Given the description of an element on the screen output the (x, y) to click on. 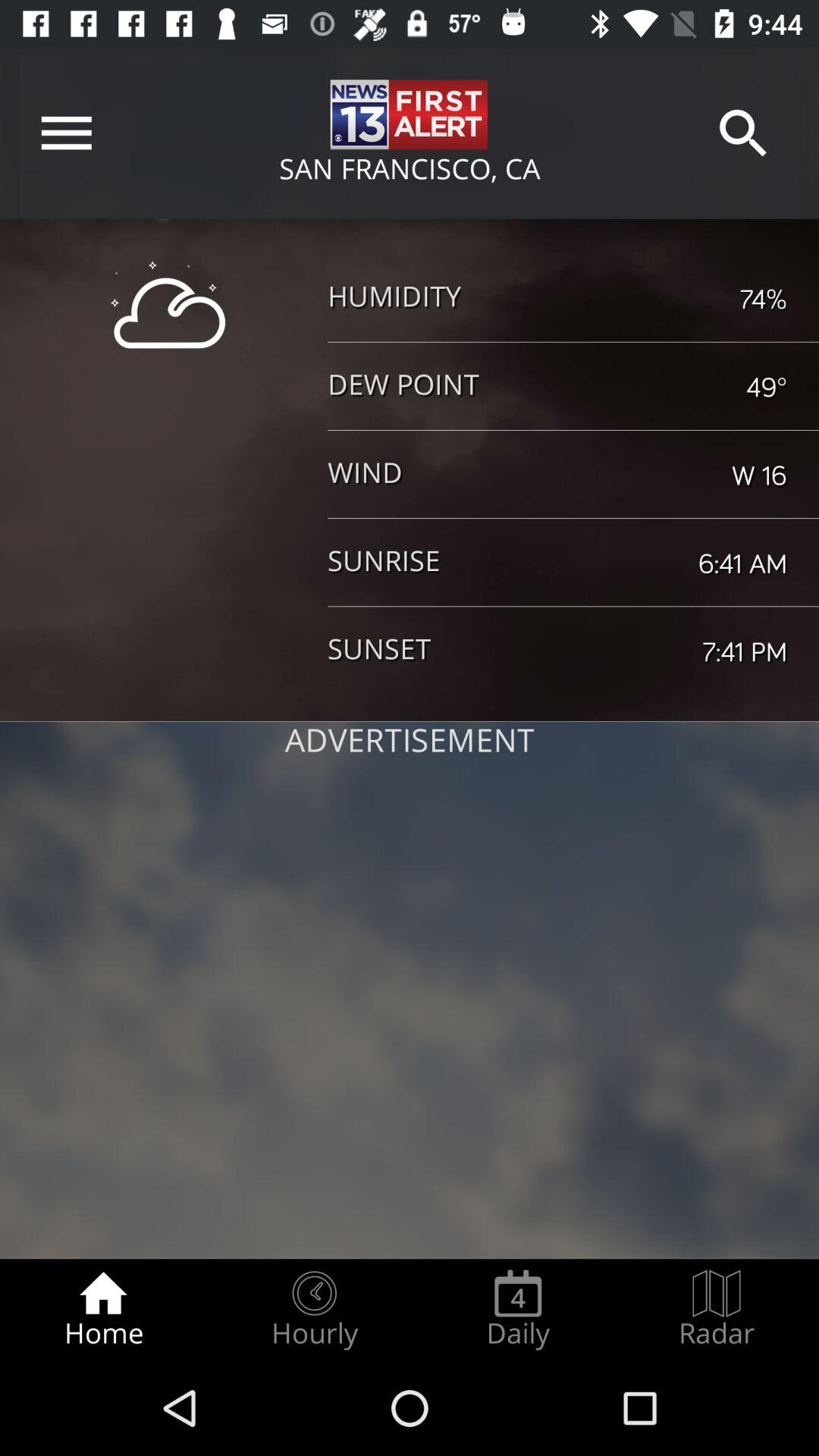
choose the icon to the left of the hourly (103, 1309)
